Given the description of an element on the screen output the (x, y) to click on. 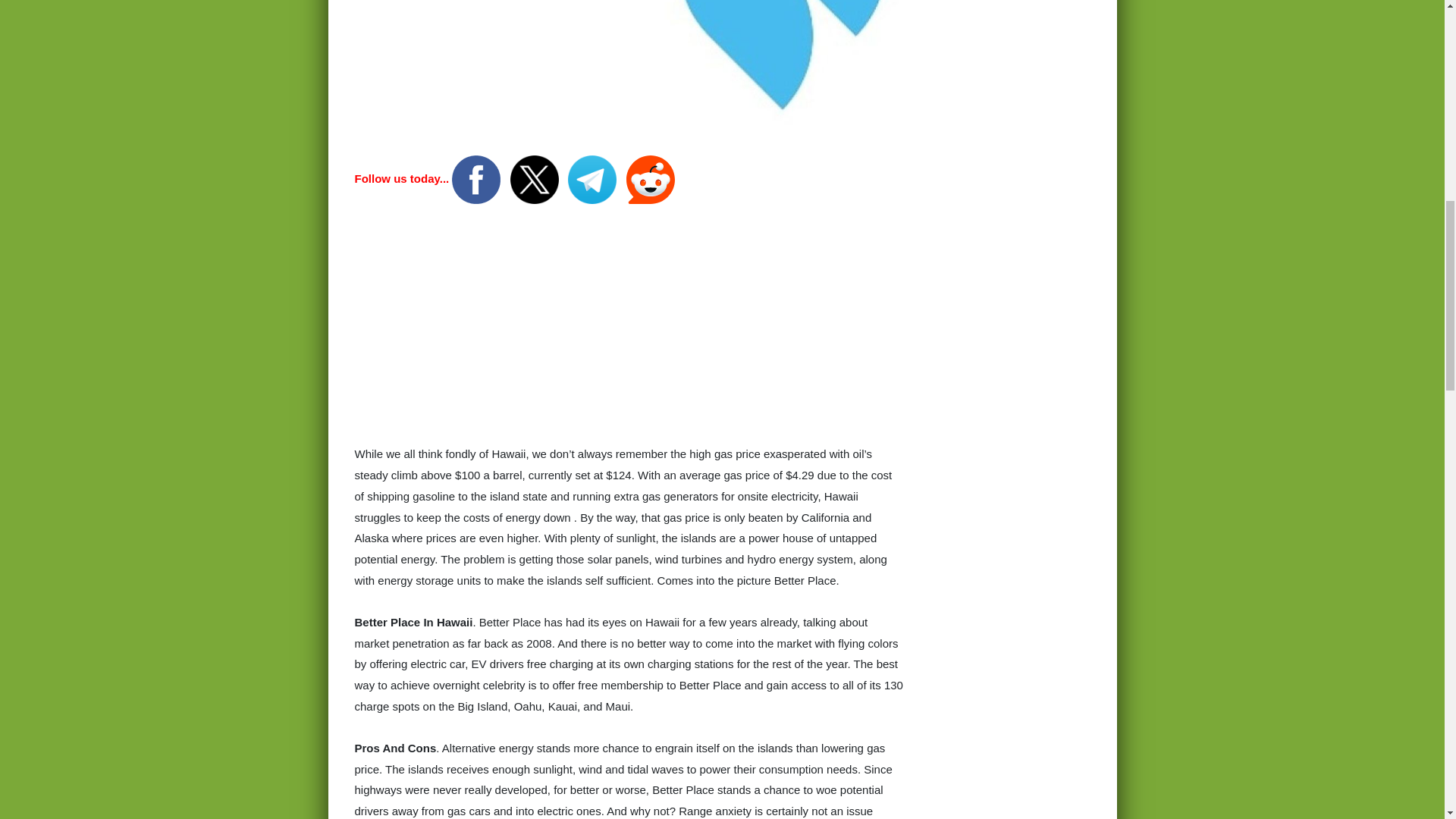
Advertisement (629, 331)
Join us on Telegram! (593, 178)
Join us on Reddit! (650, 178)
